Given the description of an element on the screen output the (x, y) to click on. 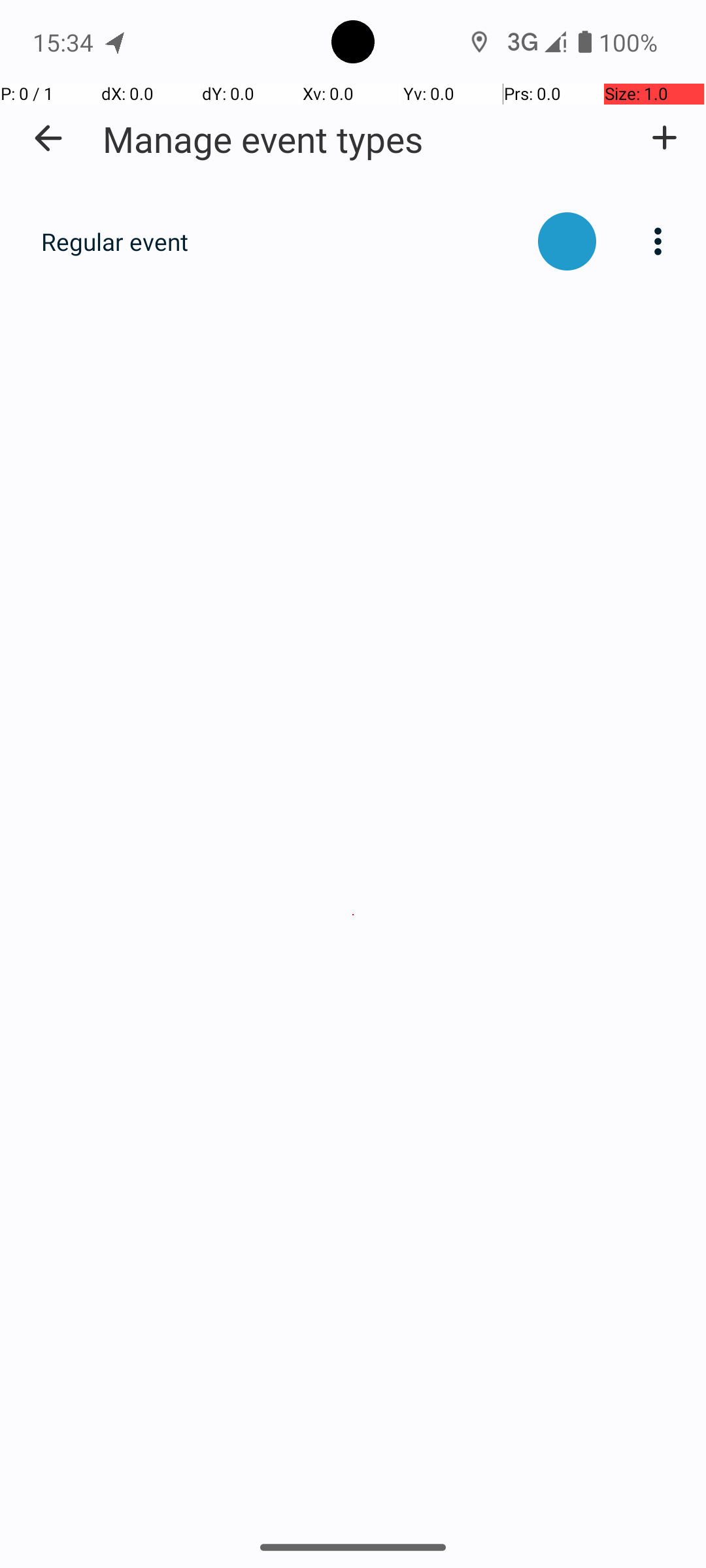
Manage event types Element type: android.widget.TextView (262, 138)
Add a new type Element type: android.widget.Button (664, 137)
